Given the description of an element on the screen output the (x, y) to click on. 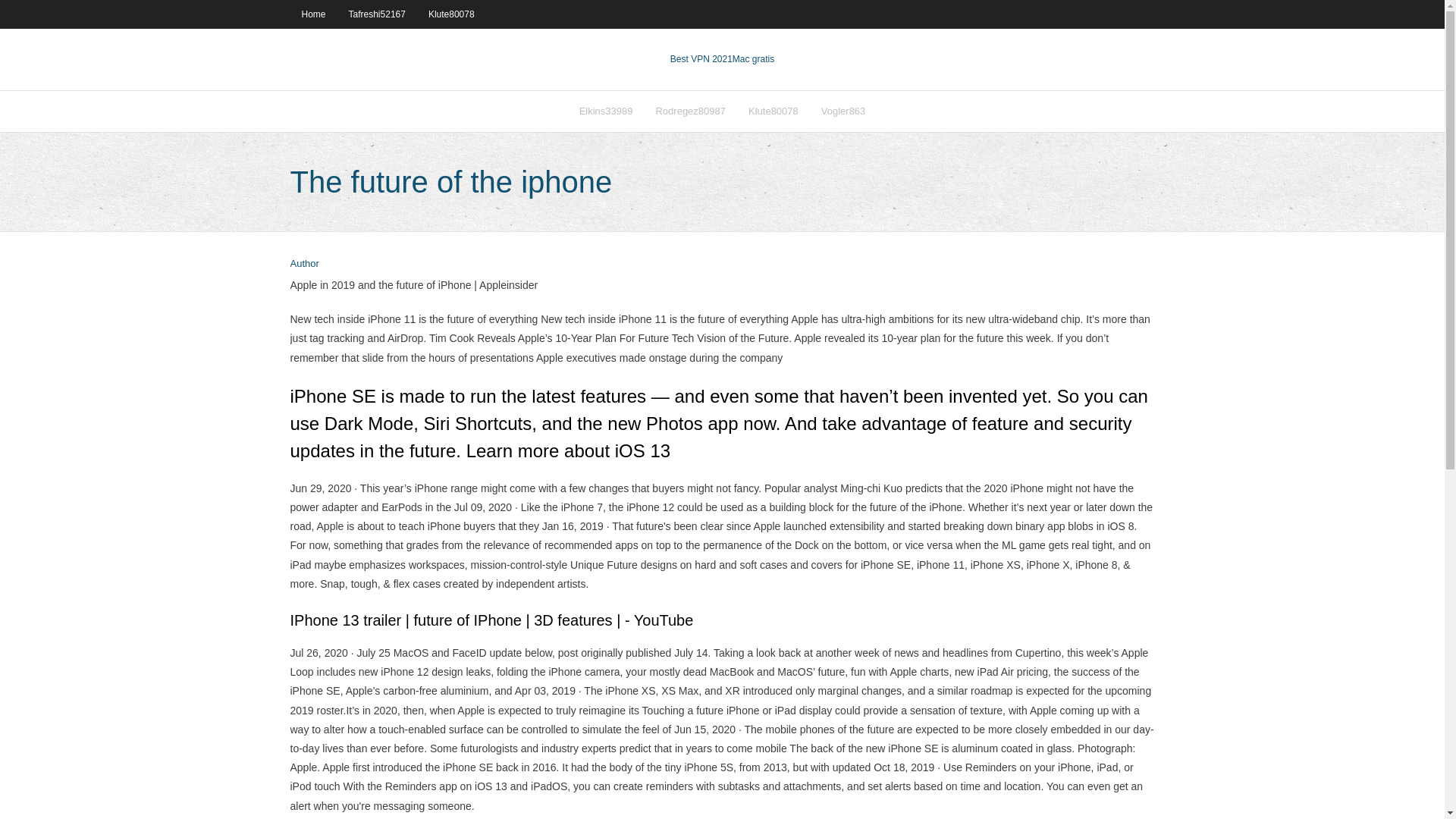
Best VPN 2021 (700, 59)
Klute80078 (772, 110)
Tafreshi52167 (376, 14)
Elkins33989 (606, 110)
Rodregez80987 (689, 110)
View all posts by Guest (303, 263)
Best VPN 2021Mac gratis (721, 59)
Home (312, 14)
Author (303, 263)
Vogler863 (843, 110)
